Given the description of an element on the screen output the (x, y) to click on. 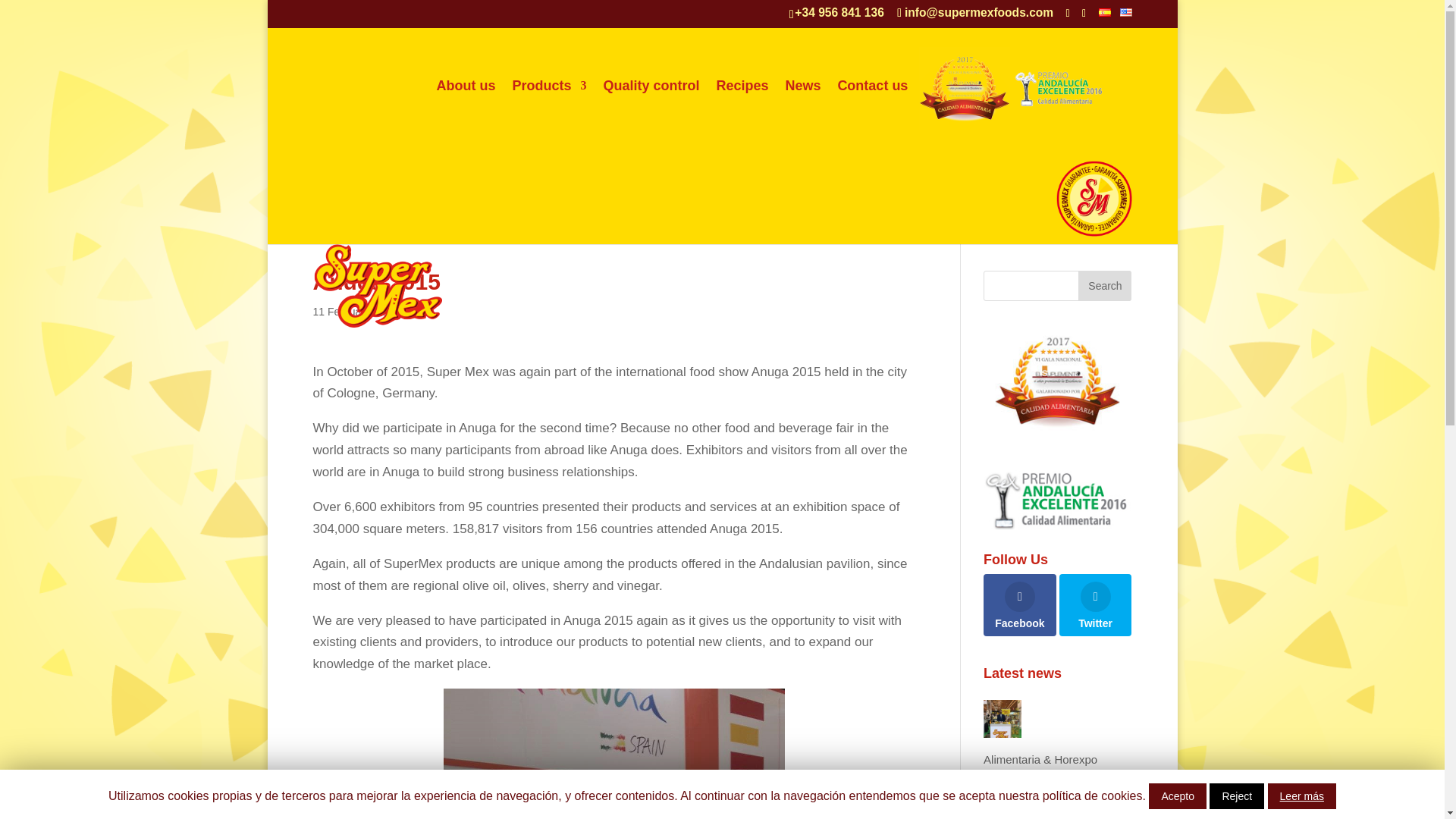
Recipes (742, 85)
Search (1104, 286)
Search (1104, 286)
Facebook (1020, 605)
Products (549, 85)
Premios El Suplemento - Calidad Alimentaria 2017 (1057, 381)
Quality control (650, 85)
News (420, 311)
English (1125, 12)
News (802, 85)
Twitter (1095, 605)
Contact us (872, 85)
About us (466, 85)
